Given the description of an element on the screen output the (x, y) to click on. 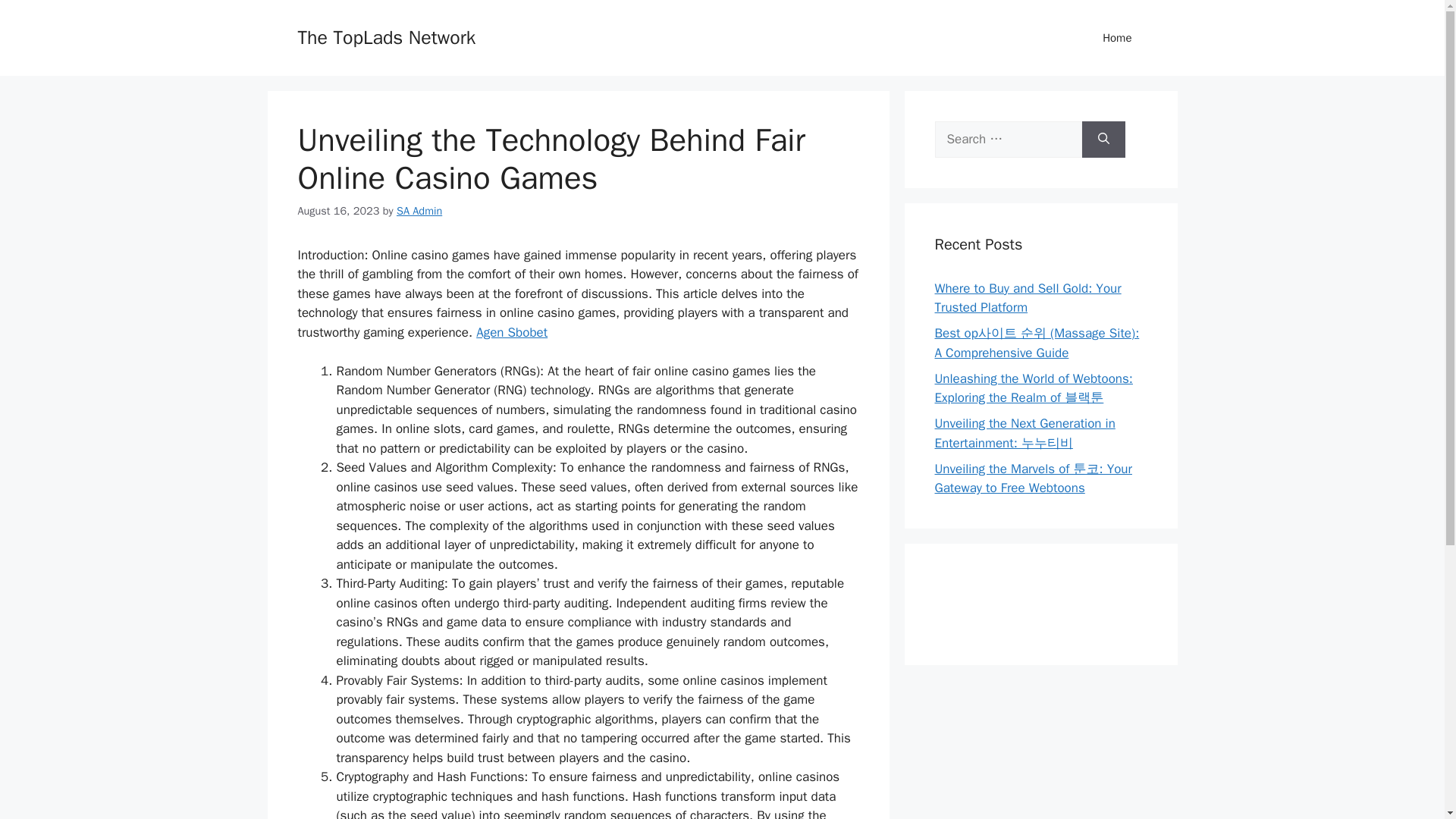
Search for: (1007, 139)
SA Admin (419, 210)
View all posts by SA Admin (419, 210)
Home (1117, 37)
The TopLads Network (386, 37)
Where to Buy and Sell Gold: Your Trusted Platform (1027, 298)
Agen Sbobet (511, 332)
